Given the description of an element on the screen output the (x, y) to click on. 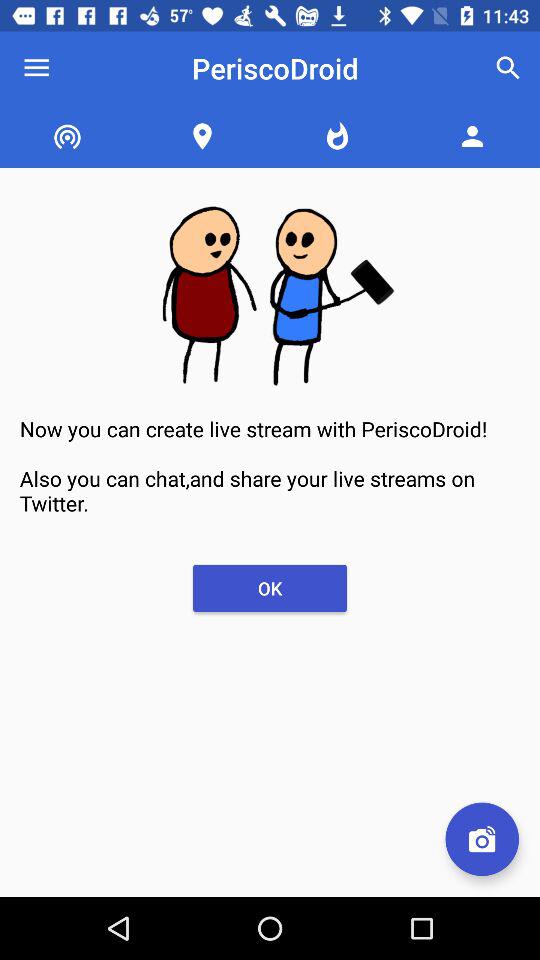
open the item at the bottom right corner (482, 839)
